Given the description of an element on the screen output the (x, y) to click on. 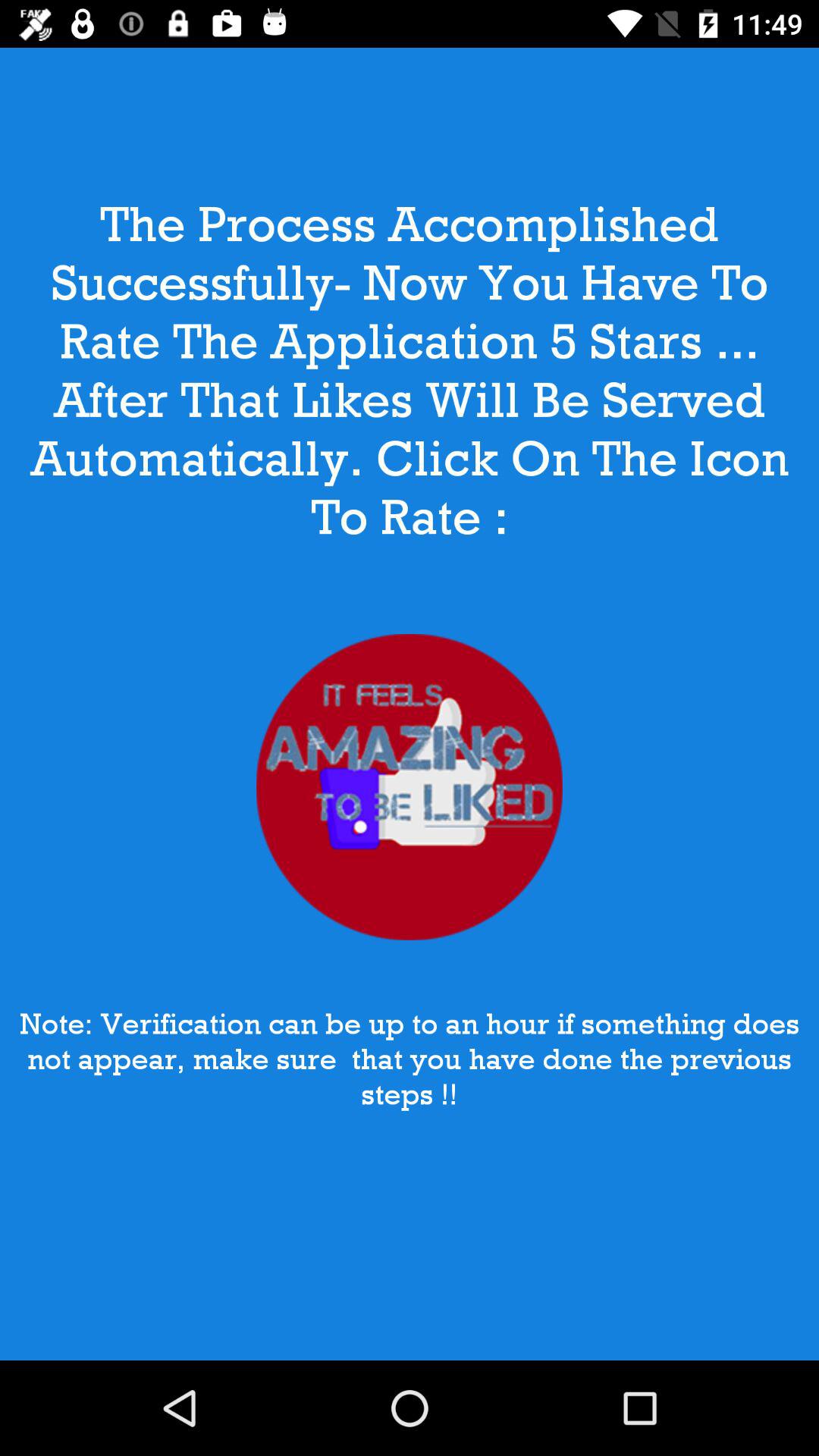
turn off the icon above note verification can (409, 787)
